Given the description of an element on the screen output the (x, y) to click on. 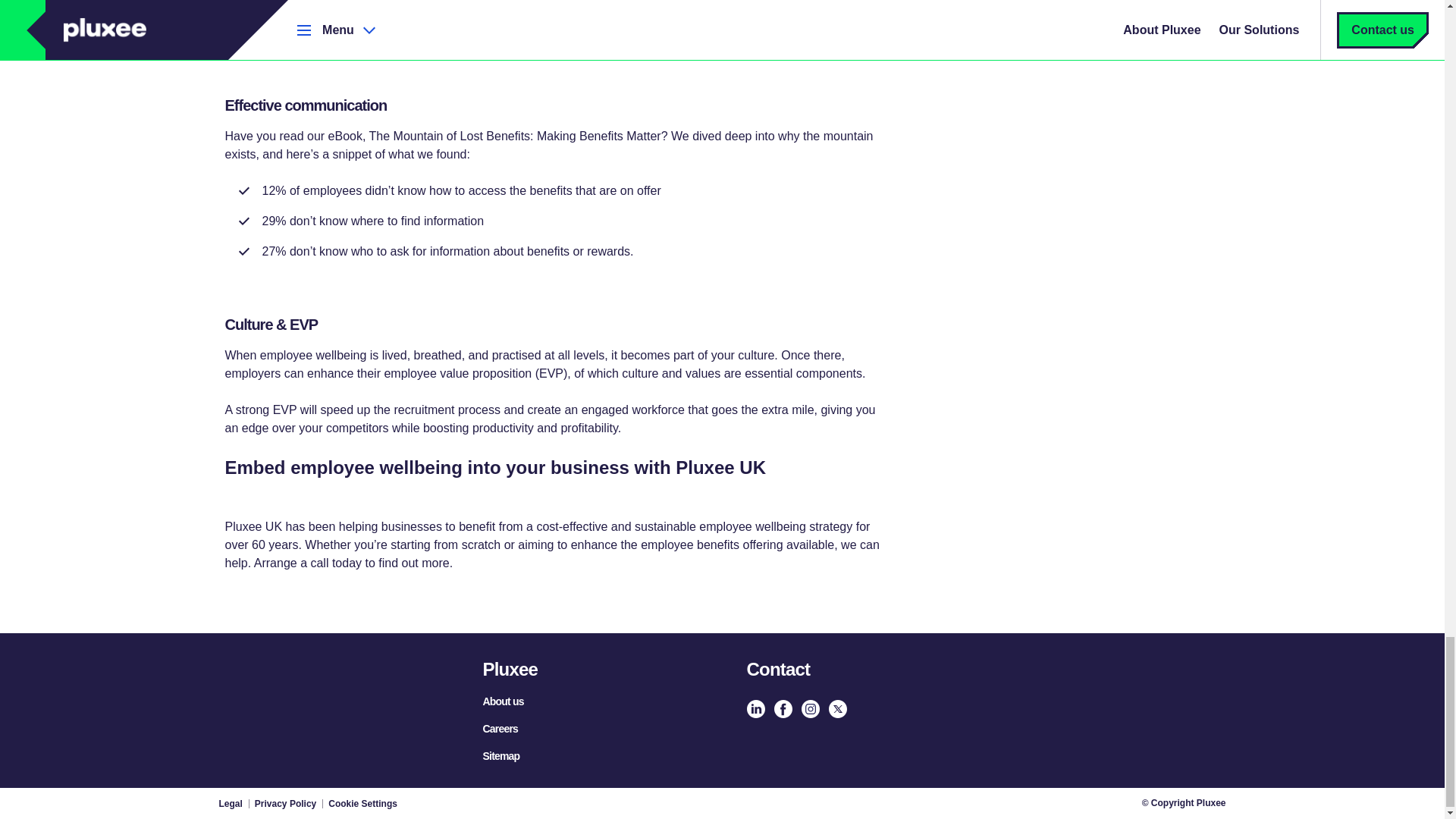
Instagram (809, 709)
About us (501, 701)
Careers (499, 728)
Facebook (782, 709)
Linkedin (754, 709)
Sitemap (500, 756)
